Given the description of an element on the screen output the (x, y) to click on. 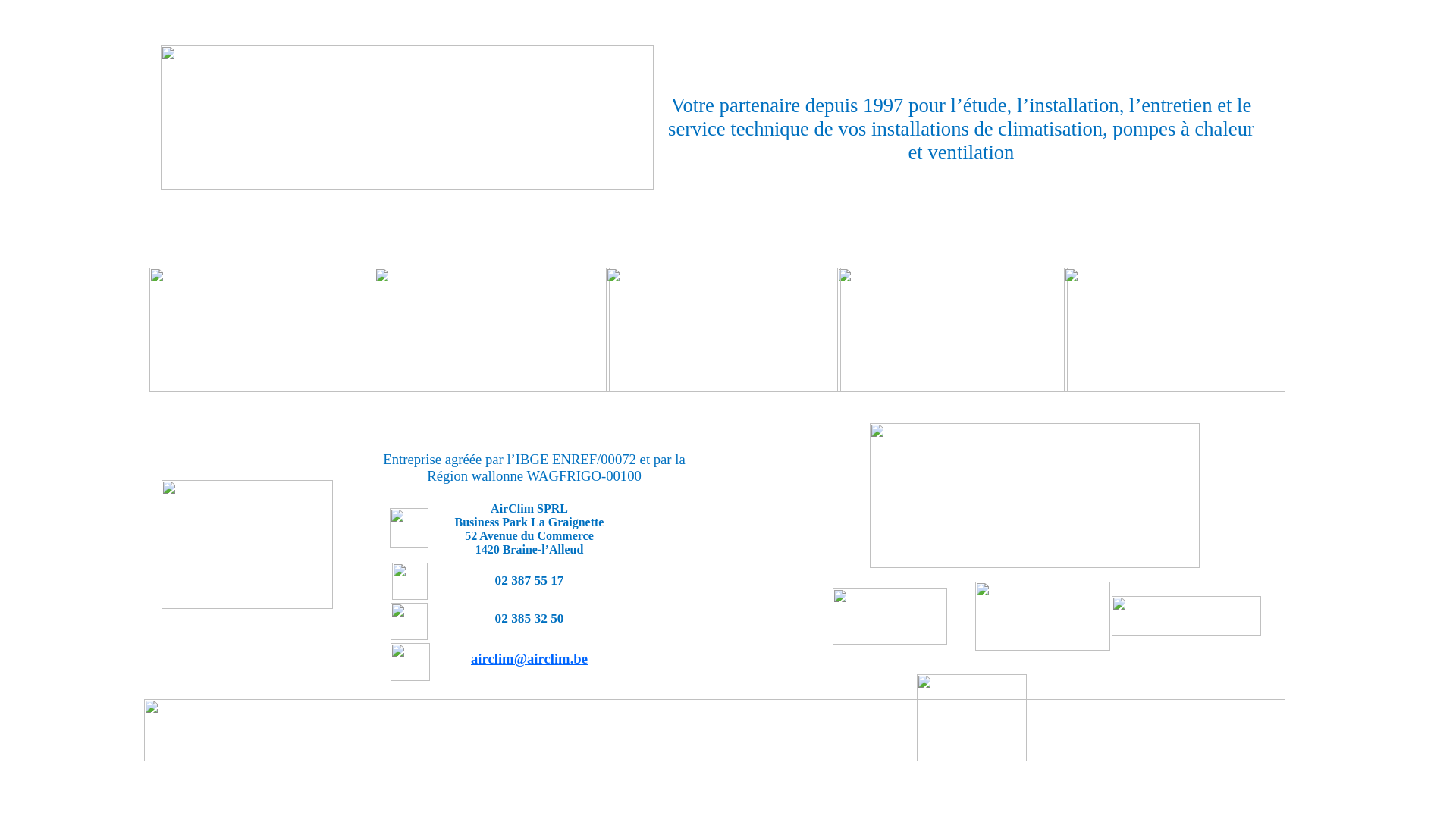
airclim@airclim.be Element type: text (528, 659)
